Given the description of an element on the screen output the (x, y) to click on. 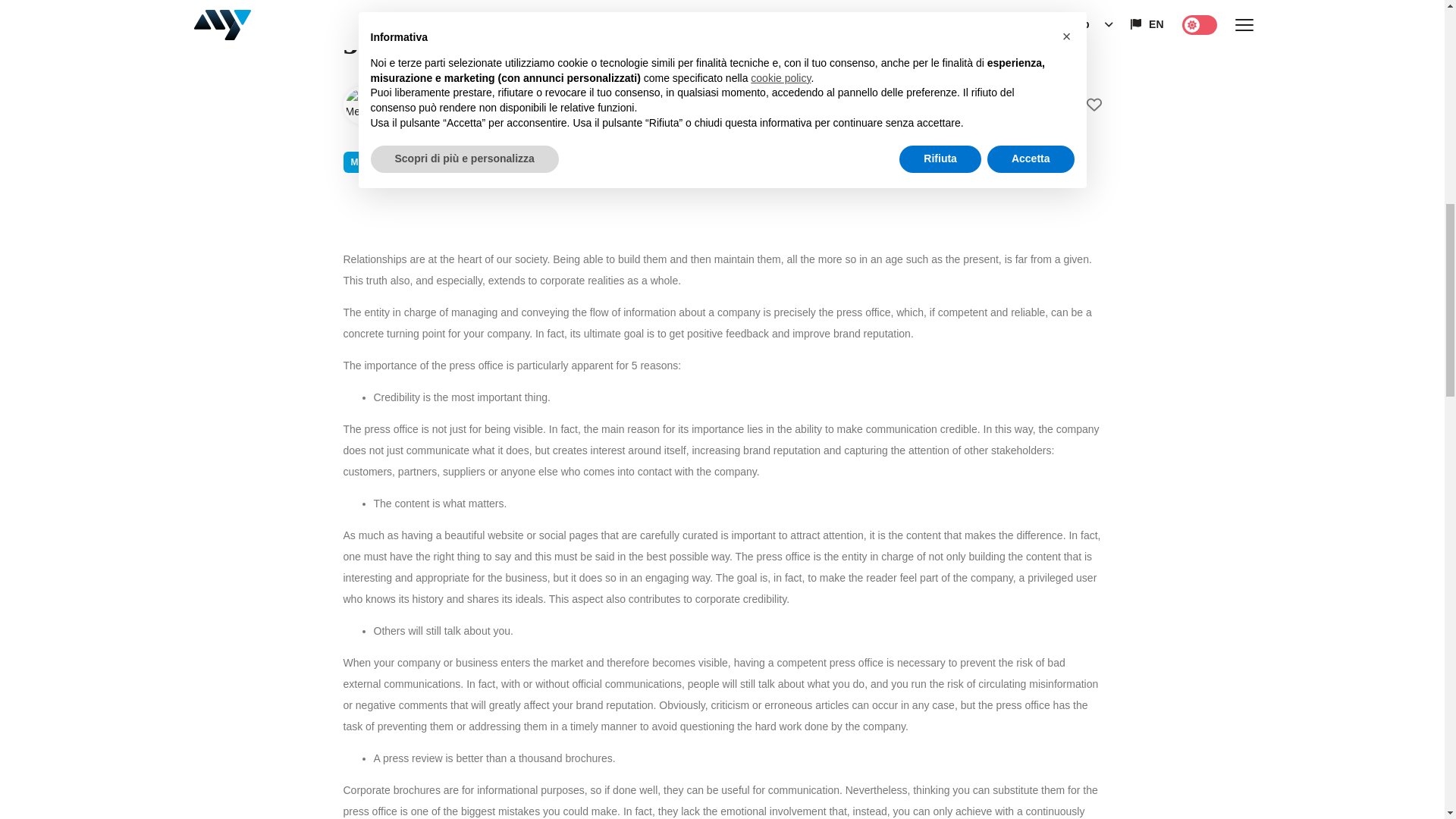
Mediability (438, 104)
Mediability (361, 105)
Home (361, 0)
Mediability services (393, 161)
Mediability (438, 104)
Add to favorites (1079, 104)
Mediability services (393, 161)
Home (361, 0)
